Given the description of an element on the screen output the (x, y) to click on. 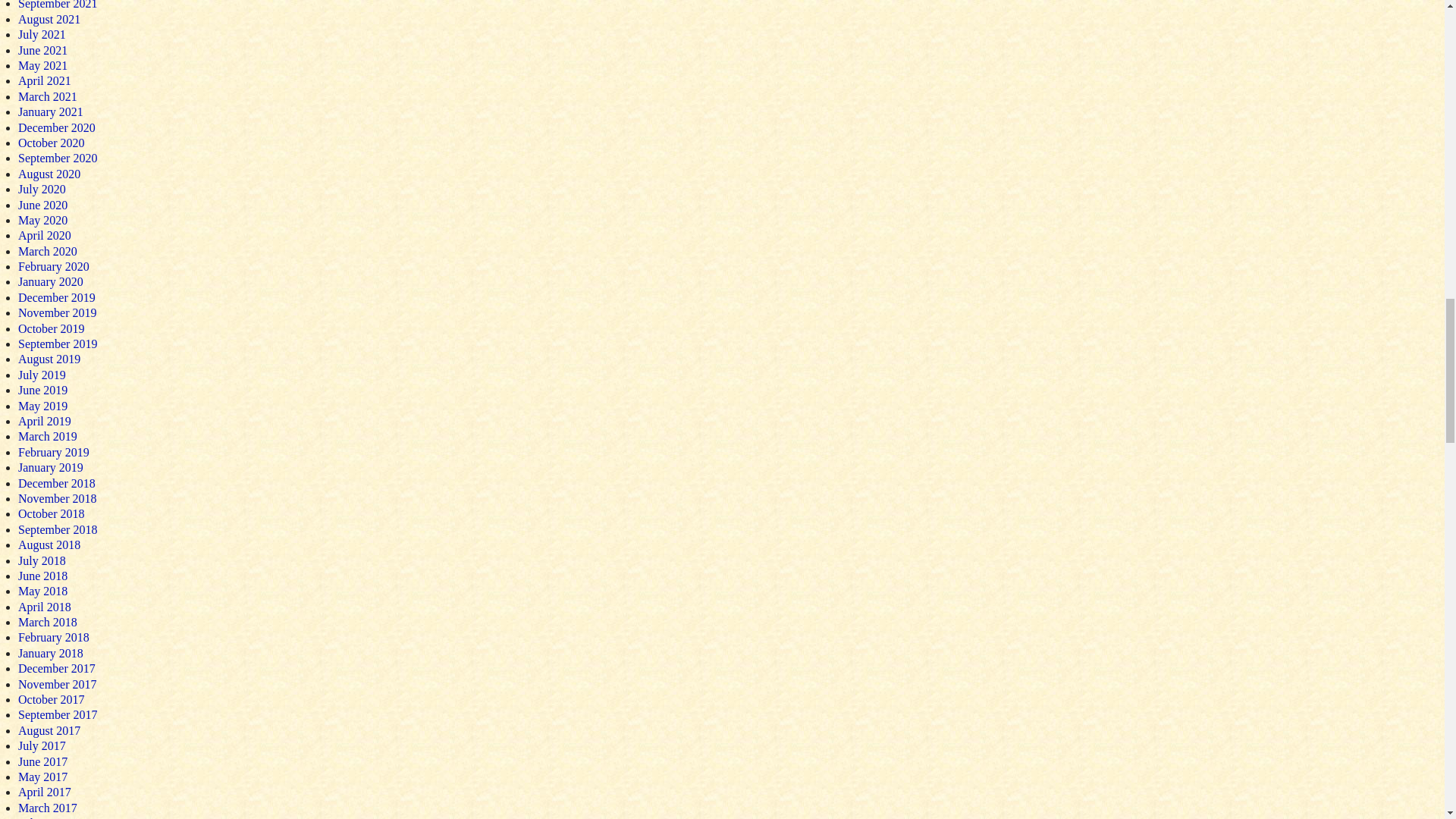
April 2021 (44, 80)
May 2021 (41, 65)
June 2021 (41, 50)
July 2021 (41, 33)
August 2021 (48, 19)
September 2021 (57, 4)
